Given the description of an element on the screen output the (x, y) to click on. 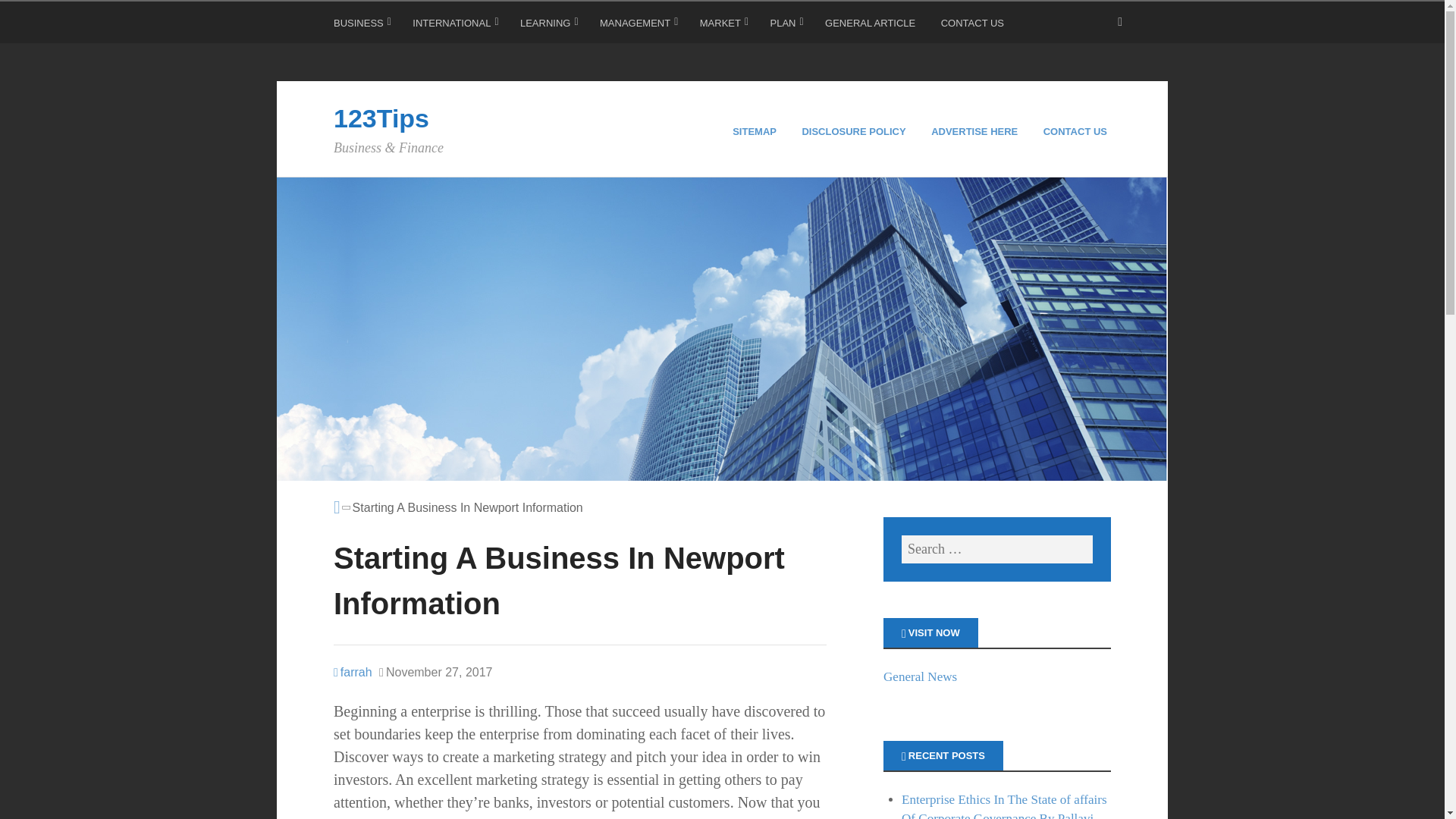
BUSINESS (362, 26)
Monday, November 27, 2017, 8:40 am (435, 672)
farrah (352, 671)
PLAN (786, 26)
CONTACT US (1076, 131)
GENERAL ARTICLE (871, 26)
MARKET (724, 26)
DISCLOSURE POLICY (855, 131)
ADVERTISE HERE (976, 131)
MANAGEMENT (638, 26)
INTERNATIONAL (454, 26)
SITEMAP (756, 131)
Search (30, 15)
LEARNING (548, 26)
Posts by farrah (352, 671)
